Given the description of an element on the screen output the (x, y) to click on. 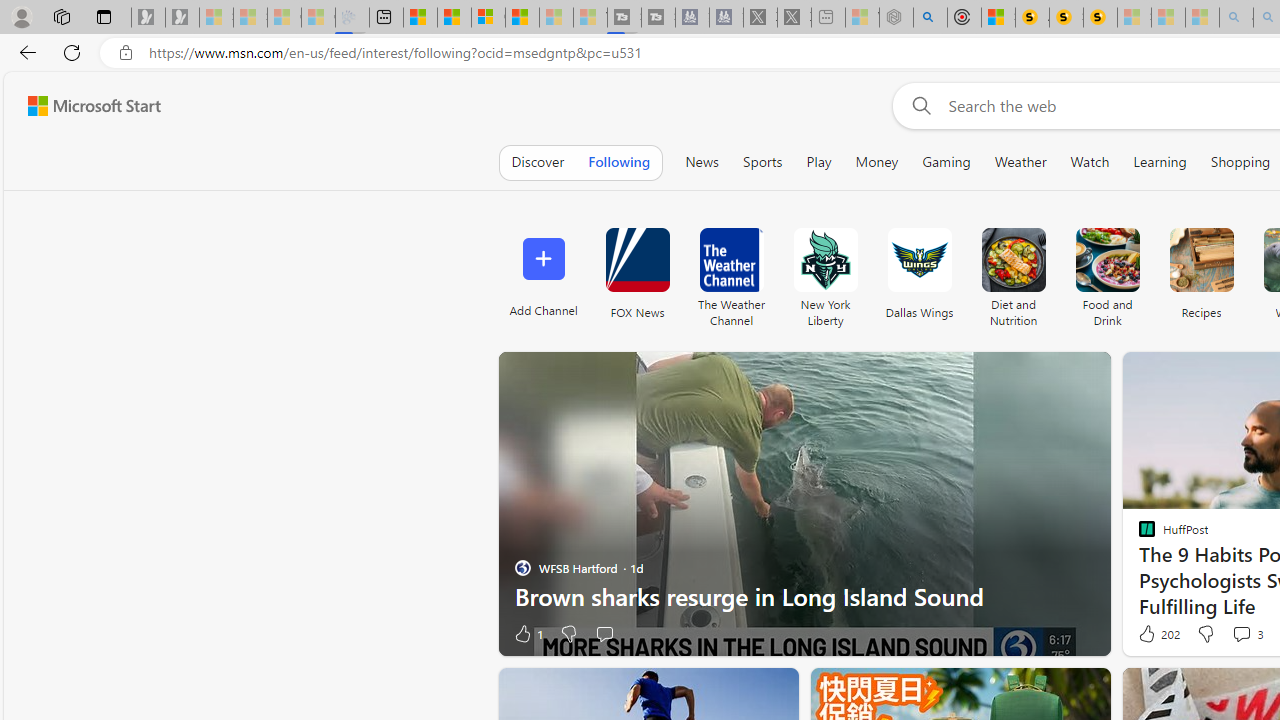
FOX News (637, 272)
202 Like (1157, 633)
The Weather Channel (731, 260)
Add Channel (542, 272)
